Given the description of an element on the screen output the (x, y) to click on. 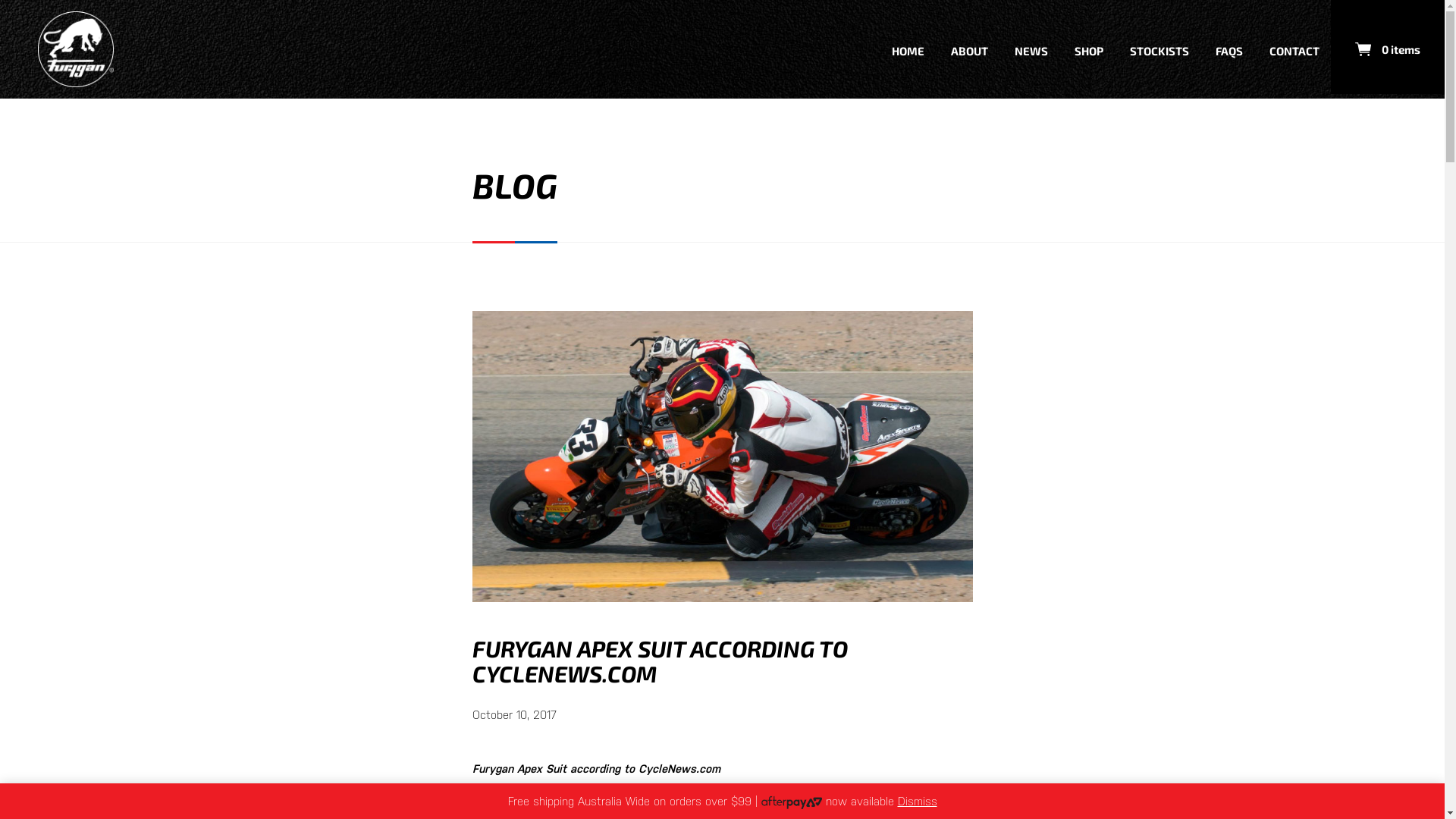
STOCKISTS Element type: text (1159, 48)
FAQS Element type: text (1228, 48)
0 items Element type: text (1387, 47)
CONTACT Element type: text (1294, 48)
NEWS Element type: text (1031, 48)
Dismiss Element type: text (917, 800)
ABOUT Element type: text (969, 48)
cart-icon Element type: hover (1363, 49)
HOME Element type: text (907, 48)
SHOP Element type: text (1088, 48)
Furygan Element type: hover (75, 49)
